Given the description of an element on the screen output the (x, y) to click on. 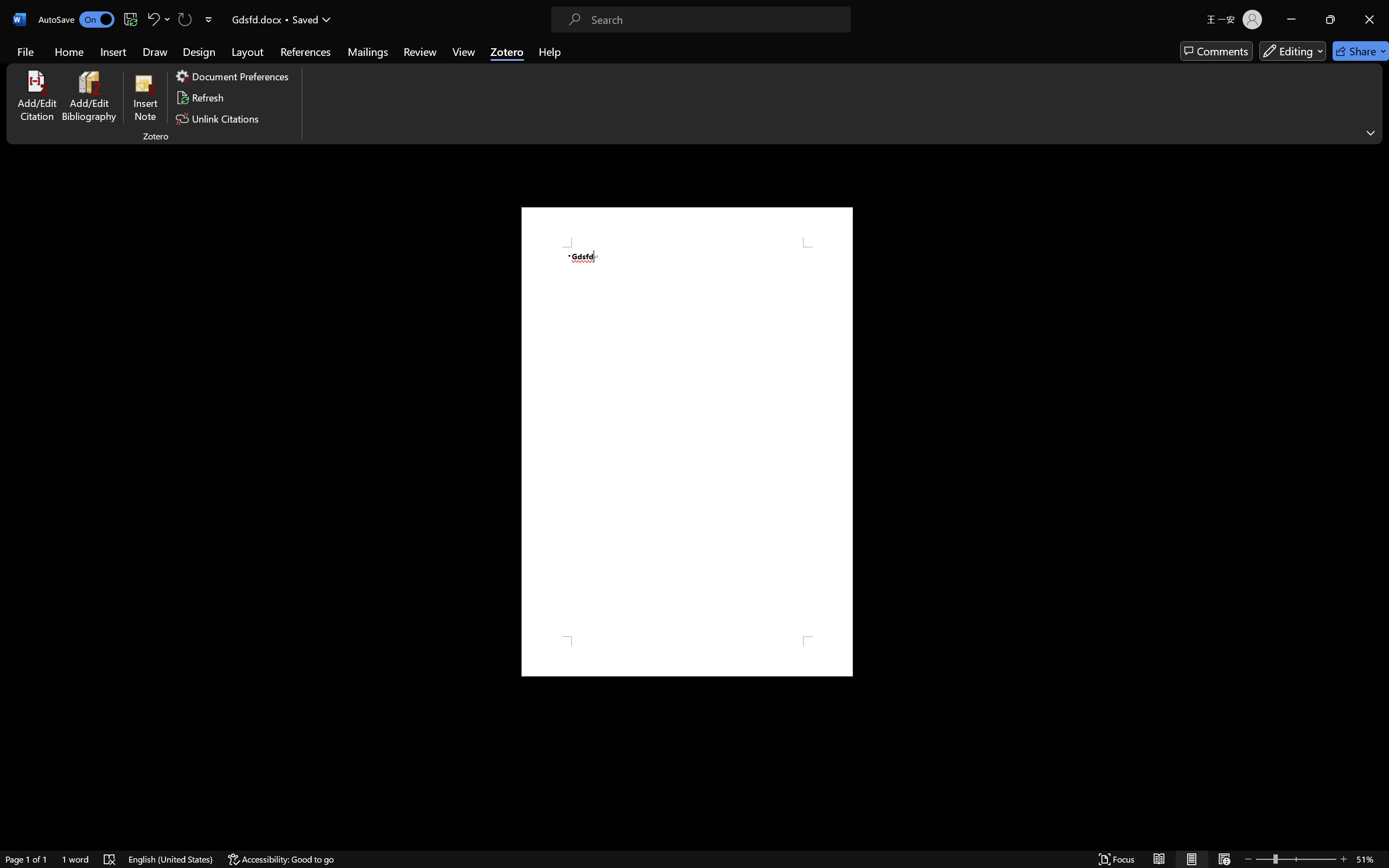
Page 1 content (686, 441)
